Given the description of an element on the screen output the (x, y) to click on. 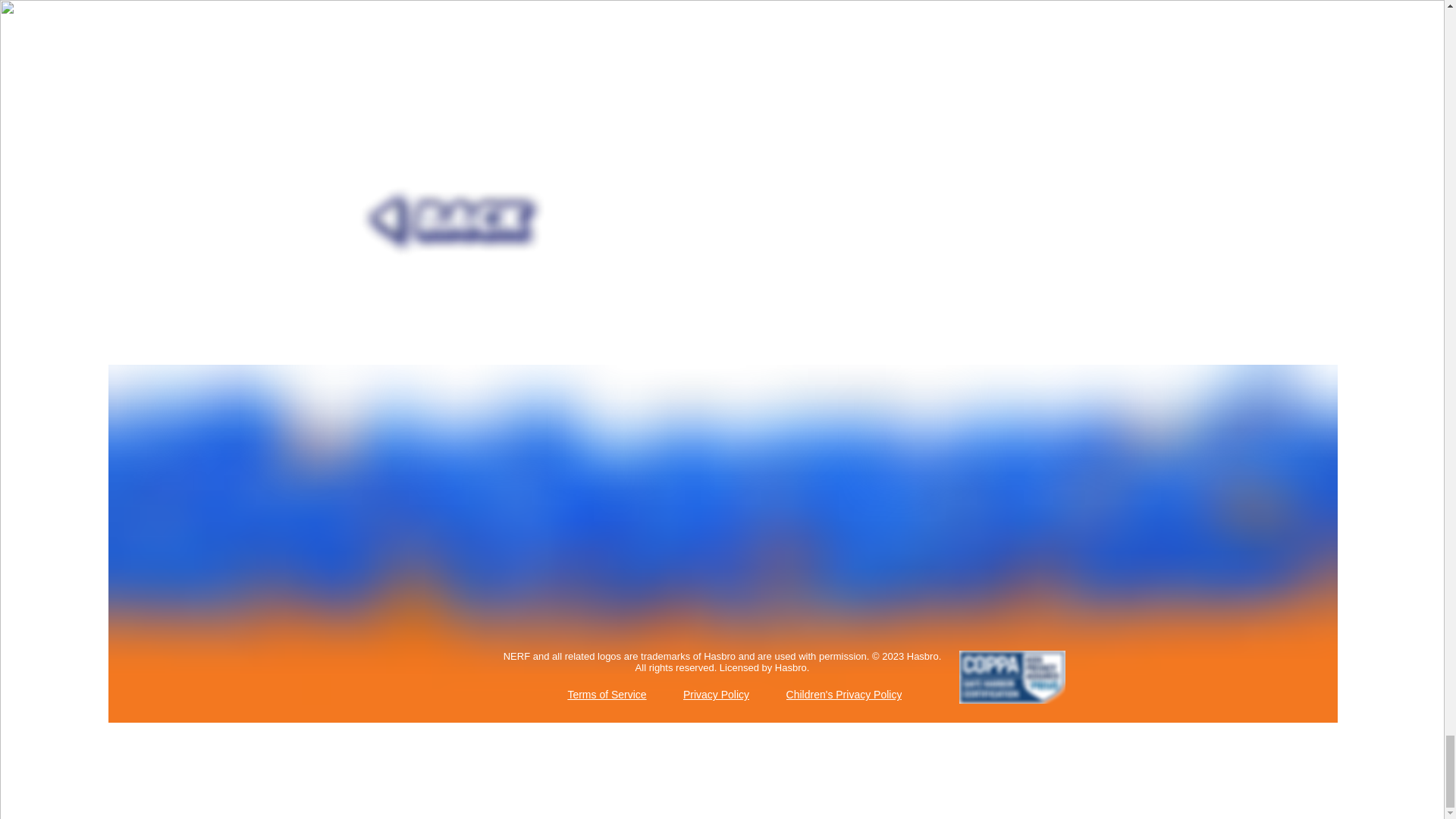
Children's Privacy Policy (844, 695)
Terms of Service (608, 695)
Privacy Policy (717, 695)
